Given the description of an element on the screen output the (x, y) to click on. 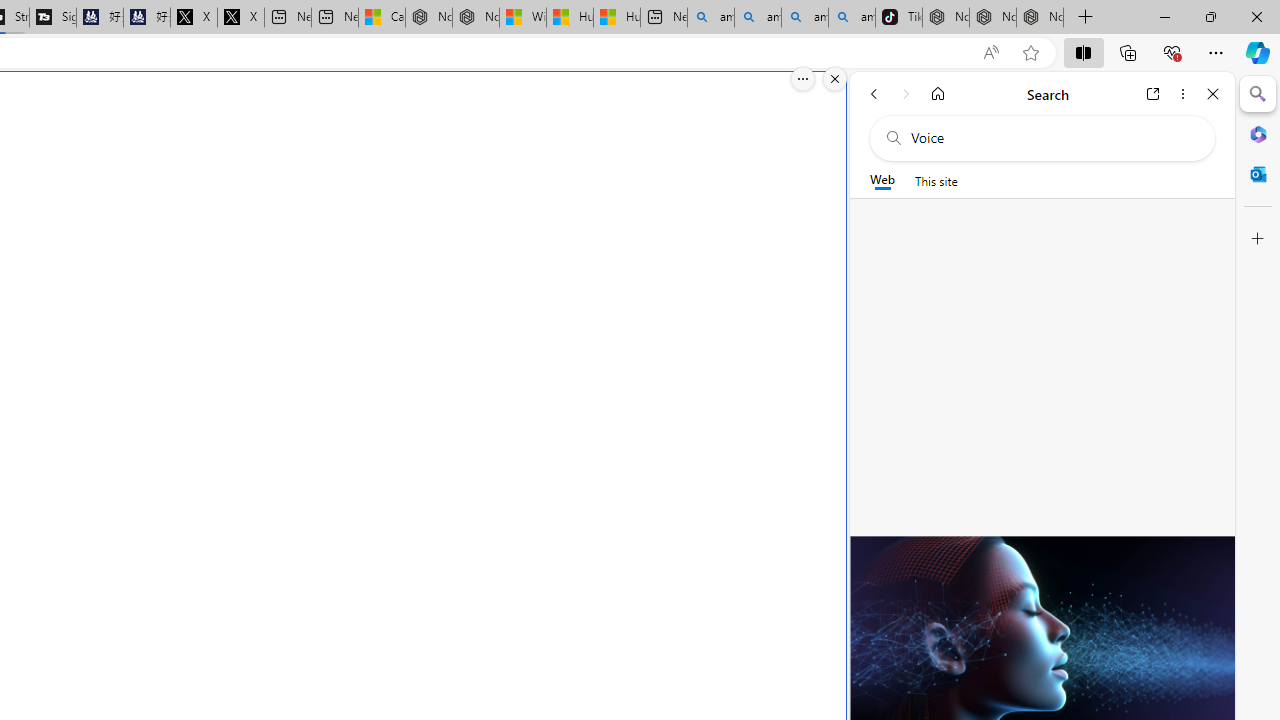
TikTok (898, 17)
Outlook (1258, 174)
More options. (803, 79)
Search the web (1051, 137)
X (240, 17)
Close split screen. (835, 79)
Wildlife - MSN (523, 17)
Nordace - Siena Pro 15 Essential Set (1040, 17)
This site scope (936, 180)
Nordace - Best Sellers (945, 17)
